Given the description of an element on the screen output the (x, y) to click on. 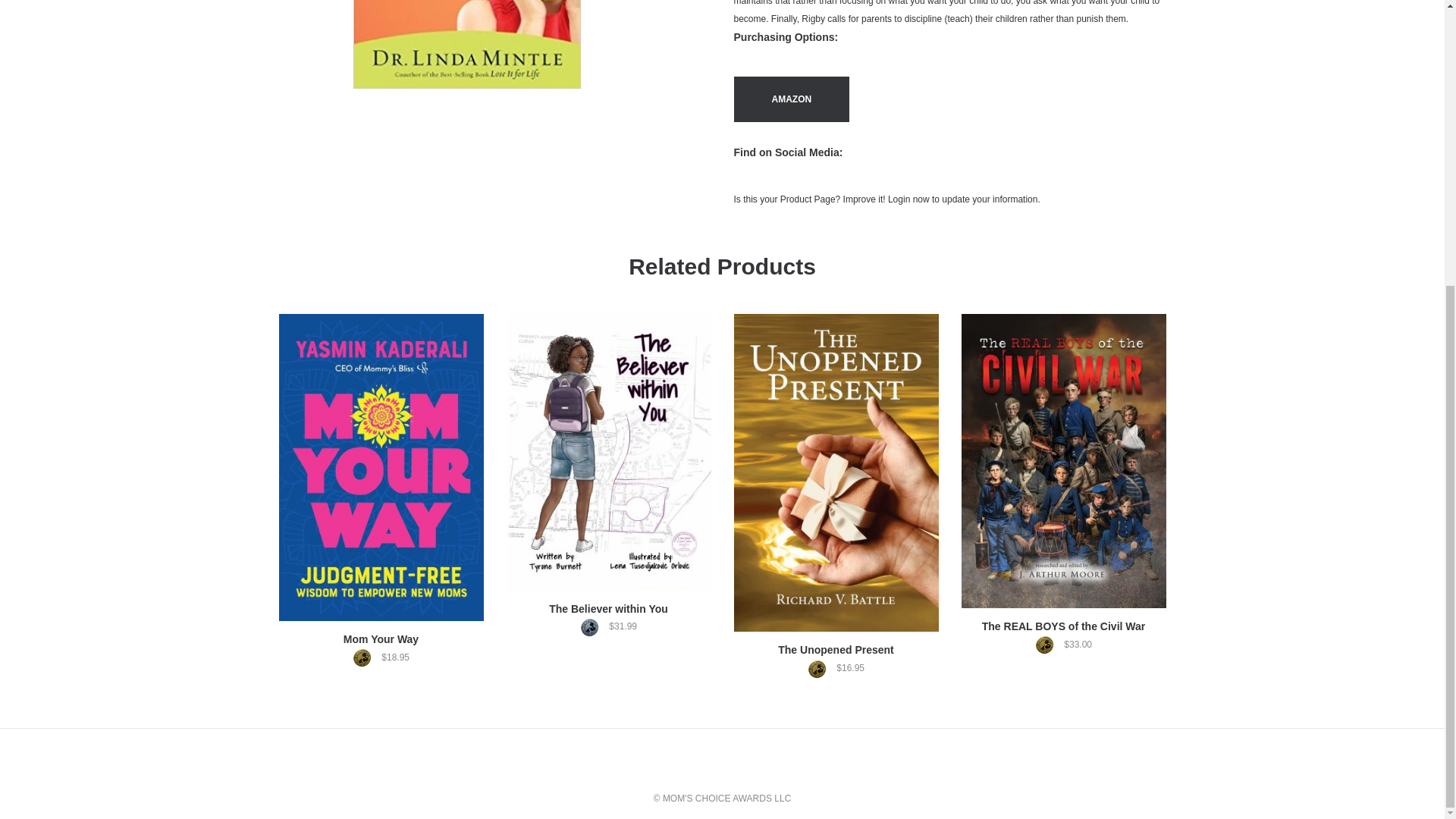
MCA Silver Award (593, 627)
MCA Gold Award (1048, 644)
MCA Gold Award (365, 657)
MCA Gold Award (821, 669)
